Given the description of an element on the screen output the (x, y) to click on. 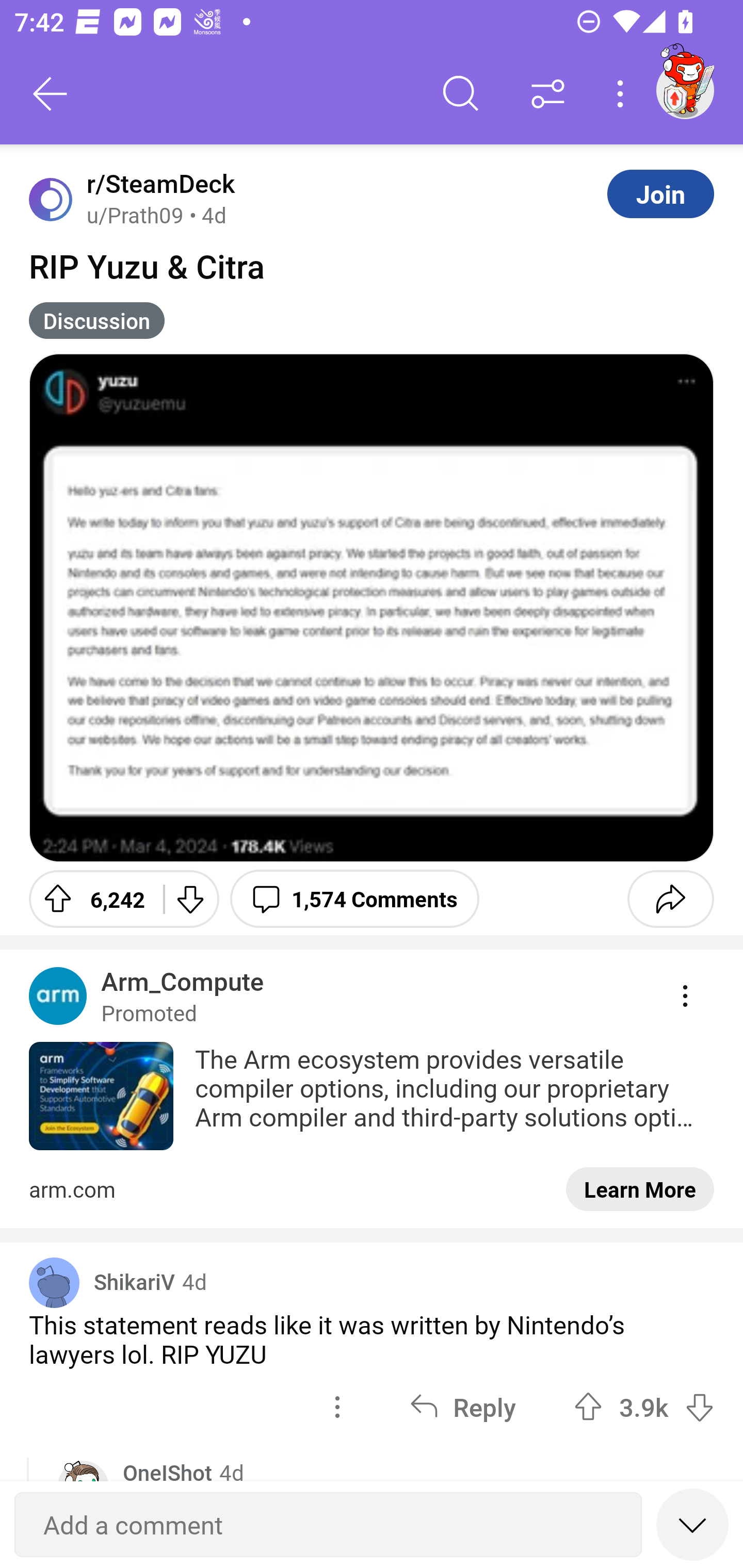
Back (50, 93)
TestAppium002 account (685, 90)
Search comments (460, 93)
Sort comments (547, 93)
More options (623, 93)
r/SteamDeck (157, 183)
Join (660, 193)
Avatar (50, 199)
Discussion (96, 320)
Image (371, 607)
Upvote 6,242 (88, 898)
Downvote (189, 898)
1,574 Comments (354, 898)
Share (670, 898)
Avatar (53, 1282)
options (337, 1406)
Reply (462, 1406)
Upvote 3.9k 3906 votes Downvote (643, 1406)
Speed read (692, 1524)
Add a comment (327, 1524)
